Given the description of an element on the screen output the (x, y) to click on. 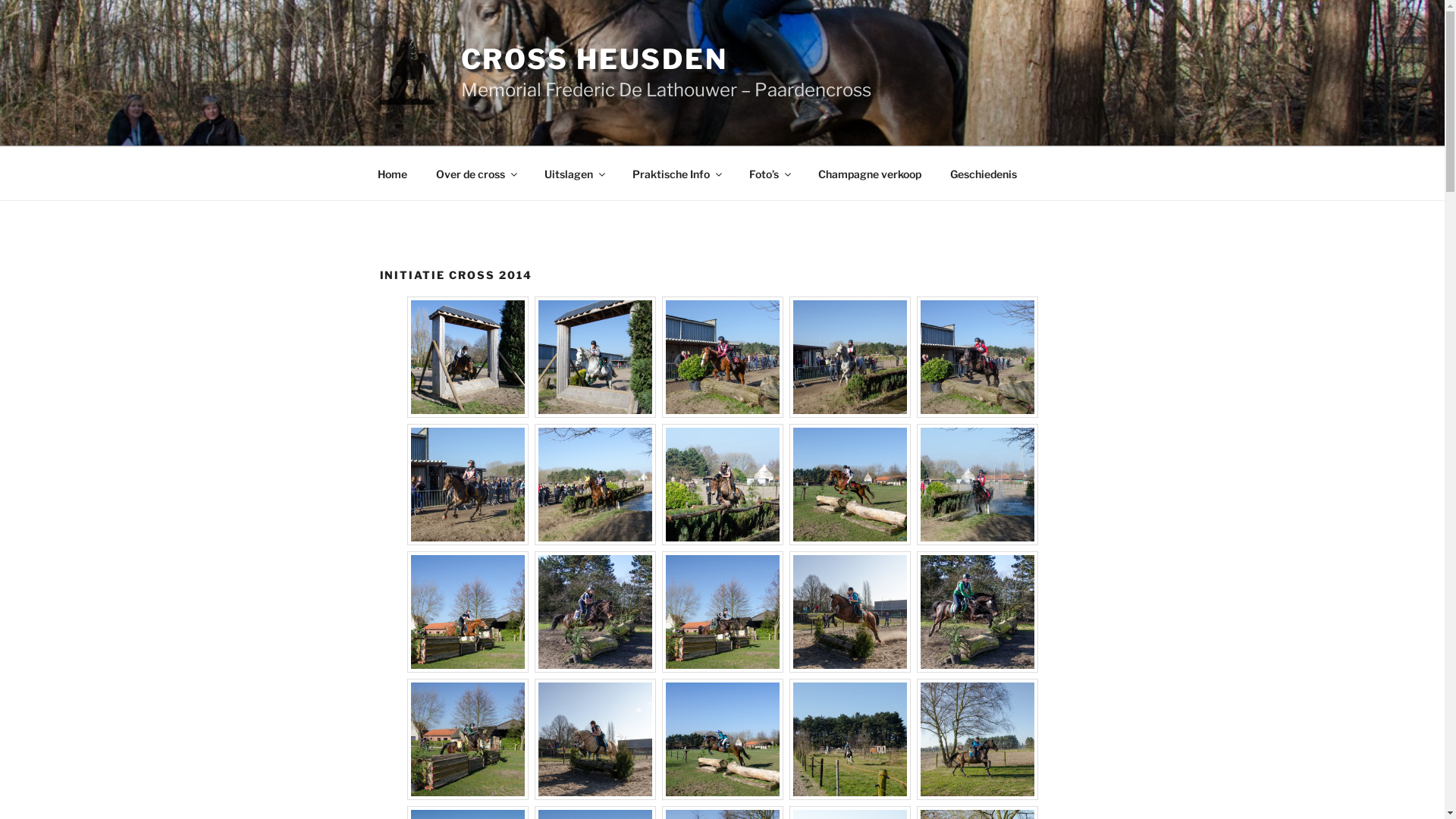
Home Element type: text (392, 172)
Uitslagen Element type: text (573, 172)
Praktische Info Element type: text (675, 172)
Champagne verkoop Element type: text (870, 172)
CROSS HEUSDEN Element type: text (594, 58)
Over de cross Element type: text (476, 172)
Skip to content Element type: text (0, 0)
Geschiedenis Element type: text (983, 172)
